Given the description of an element on the screen output the (x, y) to click on. 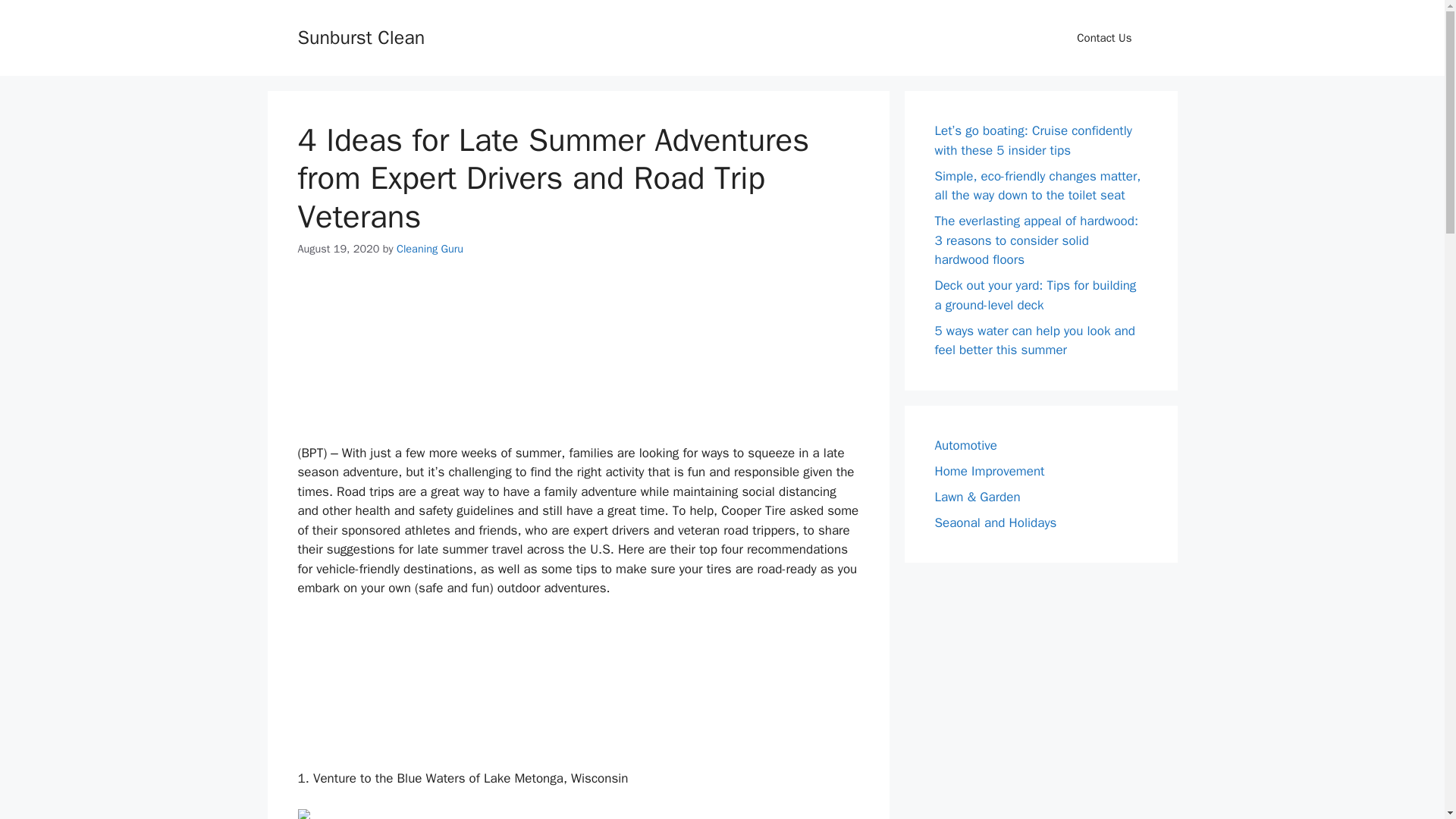
Advertisement (578, 690)
Deck out your yard: Tips for building a ground-level deck (1034, 294)
Sunburst Clean (361, 37)
Cleaning Guru (429, 248)
Seaonal and Holidays (995, 521)
5 ways water can help you look and feel better this summer (1034, 340)
Advertisement (578, 353)
Automotive (965, 444)
Home Improvement (988, 470)
View all posts by Cleaning Guru (429, 248)
Contact Us (1104, 37)
